Given the description of an element on the screen output the (x, y) to click on. 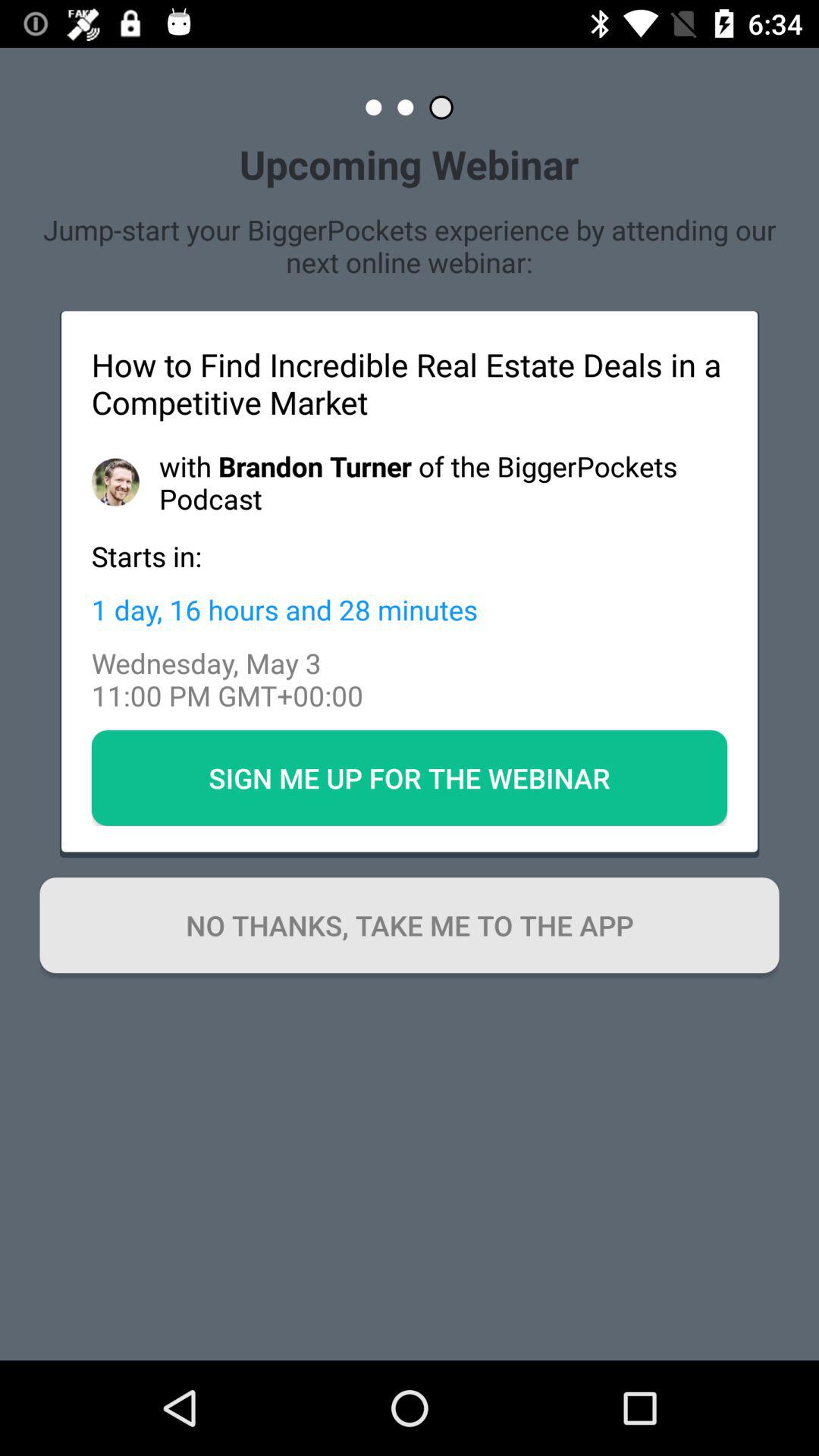
jump to the sign me up button (409, 777)
